Given the description of an element on the screen output the (x, y) to click on. 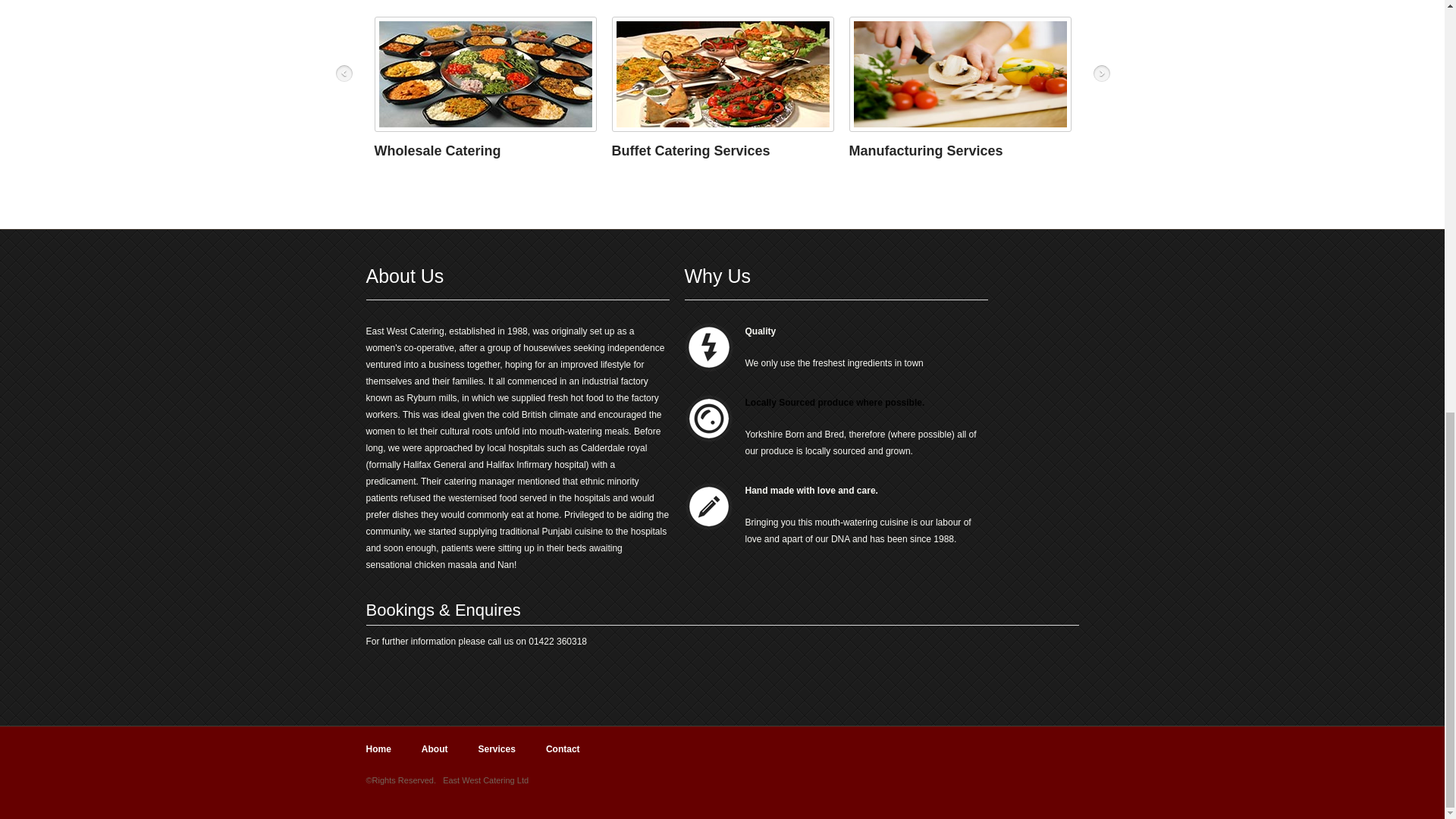
Contact (562, 749)
Home (377, 749)
Buffet Catering Services (690, 150)
Manufacturing Services (925, 150)
Services (496, 749)
About (435, 749)
East West Catering Ltd (485, 779)
Wholesale Catering (437, 150)
